Given the description of an element on the screen output the (x, y) to click on. 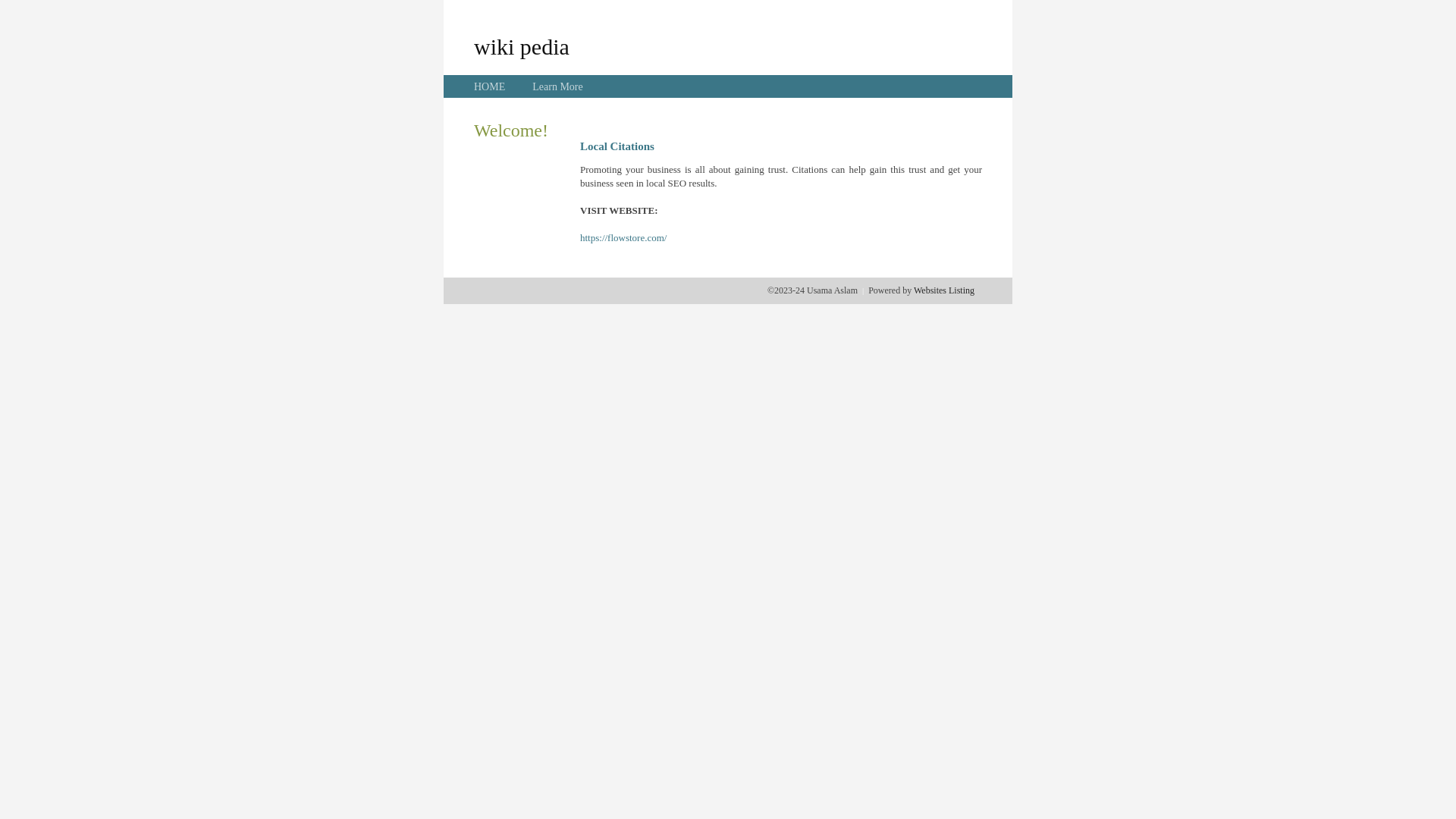
HOME Element type: text (489, 86)
https://flowstore.com/ Element type: text (623, 237)
Learn More Element type: text (557, 86)
wiki pedia Element type: text (521, 46)
Websites Listing Element type: text (943, 290)
